Given the description of an element on the screen output the (x, y) to click on. 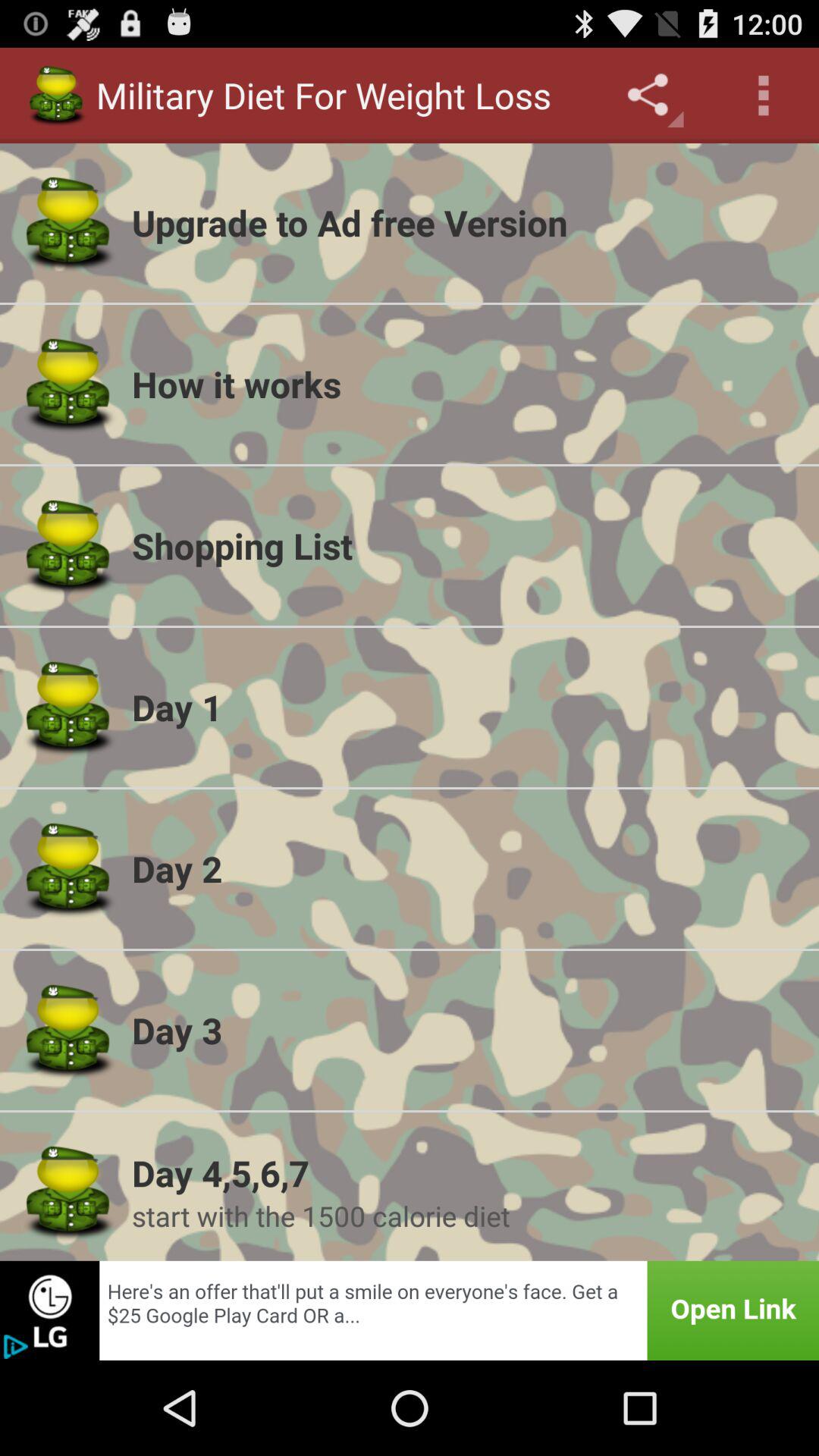
launch the day 2 item (465, 868)
